Given the description of an element on the screen output the (x, y) to click on. 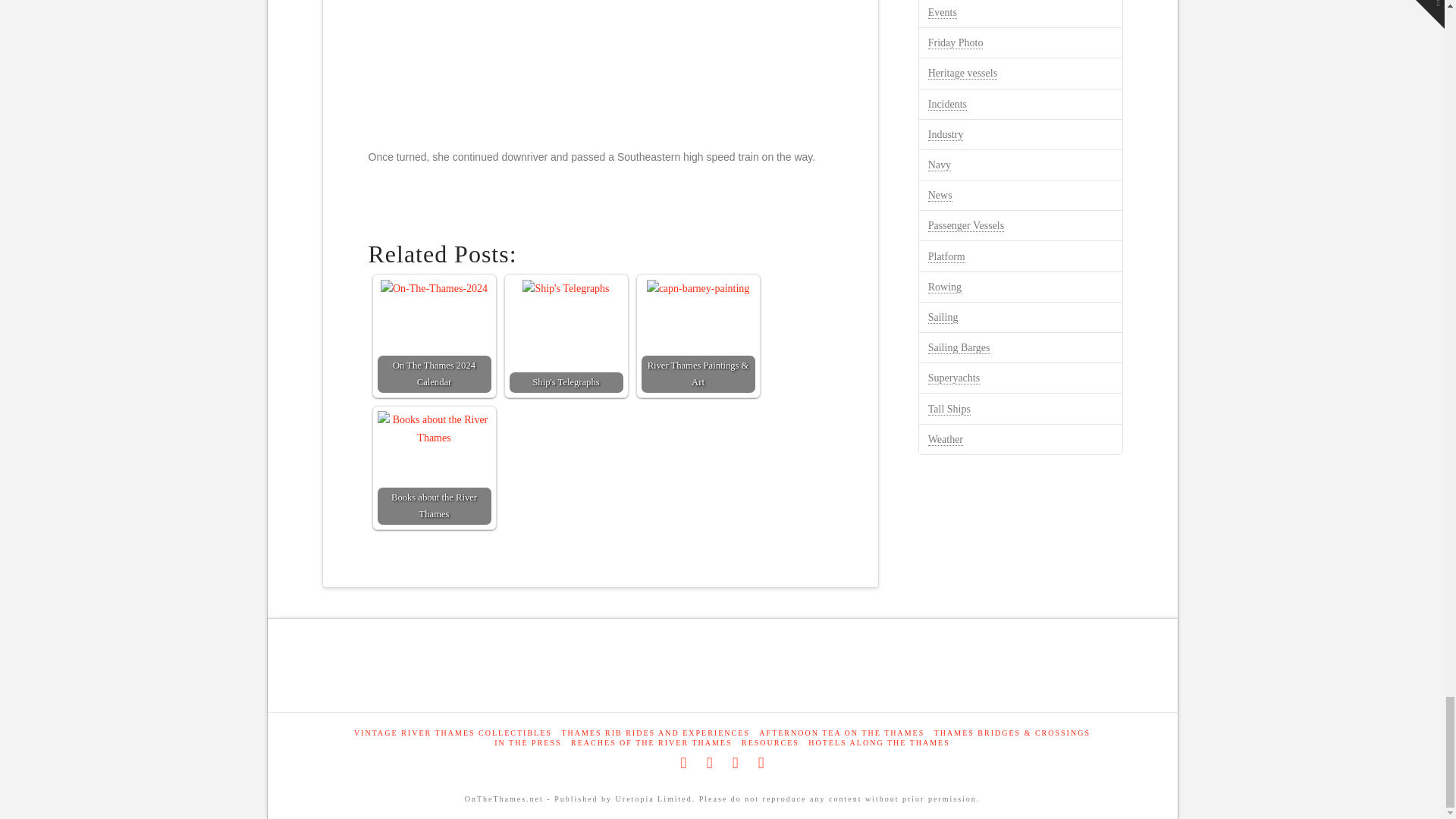
Books about the River Thames (434, 467)
Books about the River Thames (434, 429)
River Thames Crossings (1012, 732)
Ship's Telegraphs (565, 289)
On The Thames 2024 Calendar (433, 289)
On The Thames 2024 Calendar (434, 336)
Ship's Telegraphs (566, 336)
